Given the description of an element on the screen output the (x, y) to click on. 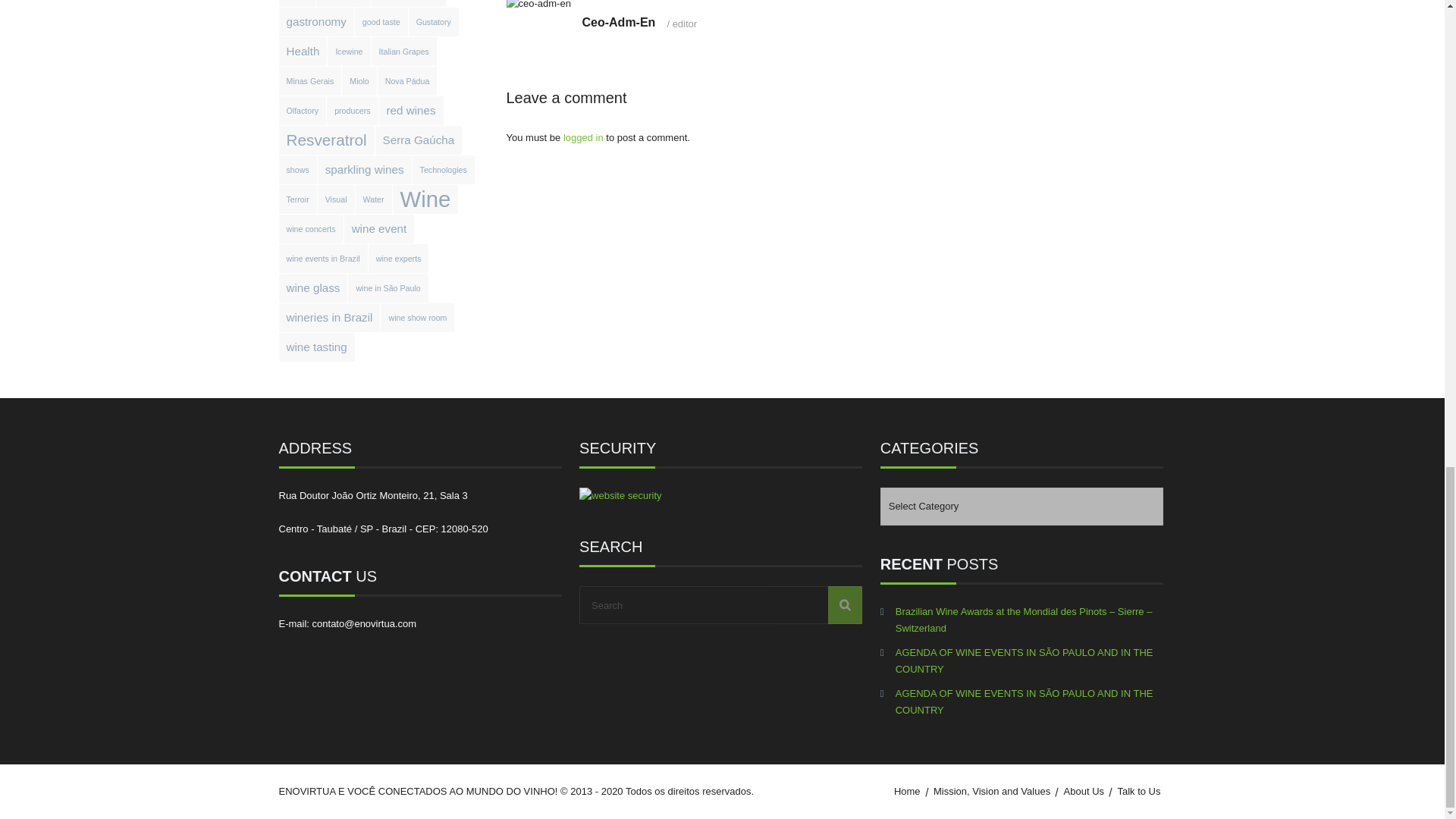
ceo-adm-en (538, 6)
